Given the description of an element on the screen output the (x, y) to click on. 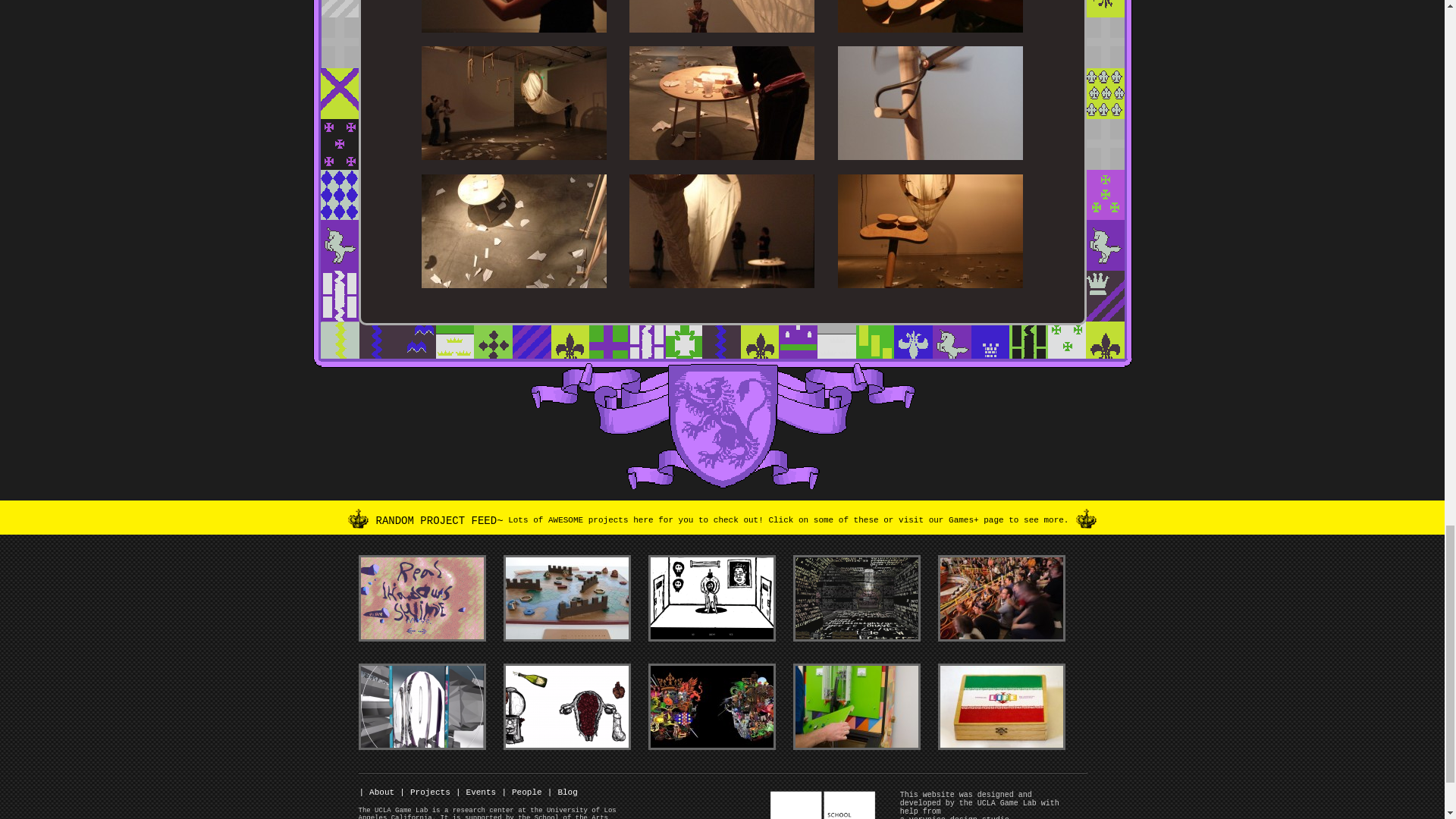
a verynice design studio (954, 817)
